Given the description of an element on the screen output the (x, y) to click on. 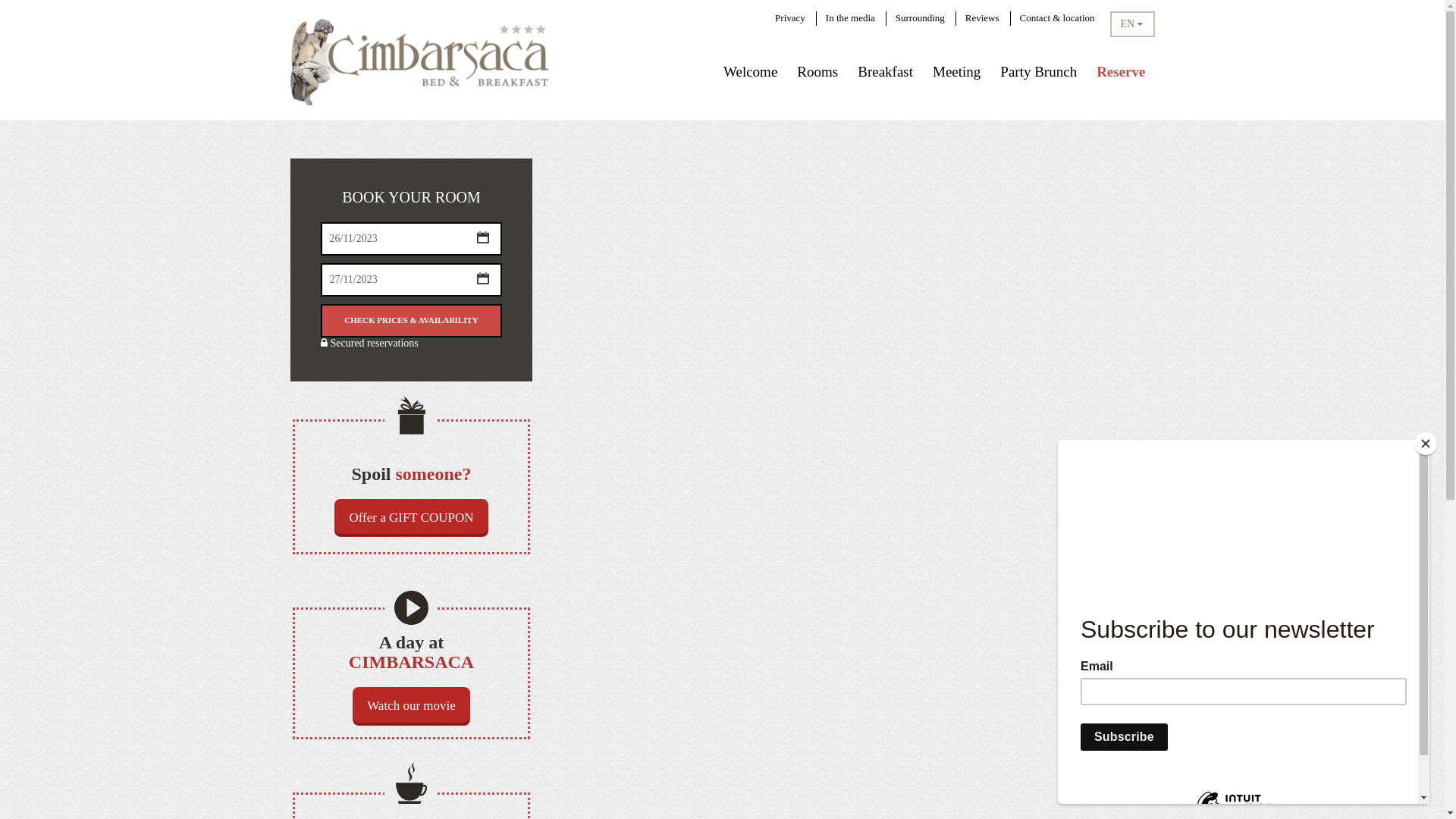
Meeting Element type: text (956, 71)
Privacy Element type: text (789, 18)
Watch our movie Element type: text (411, 705)
... Element type: hover (482, 237)
Surrounding Element type: text (919, 18)
Offer a GIFT COUPON Element type: text (410, 517)
Secured reservations Element type: text (368, 342)
Reviews Element type: text (982, 18)
... Element type: hover (482, 278)
Rooms Element type: text (817, 71)
Breakfast Element type: text (885, 71)
Contact & location Element type: text (1057, 18)
In the media Element type: text (850, 18)
Check prices & availability Element type: text (411, 320)
Welcome Element type: text (749, 71)
Party Brunch Element type: text (1038, 71)
